Given the description of an element on the screen output the (x, y) to click on. 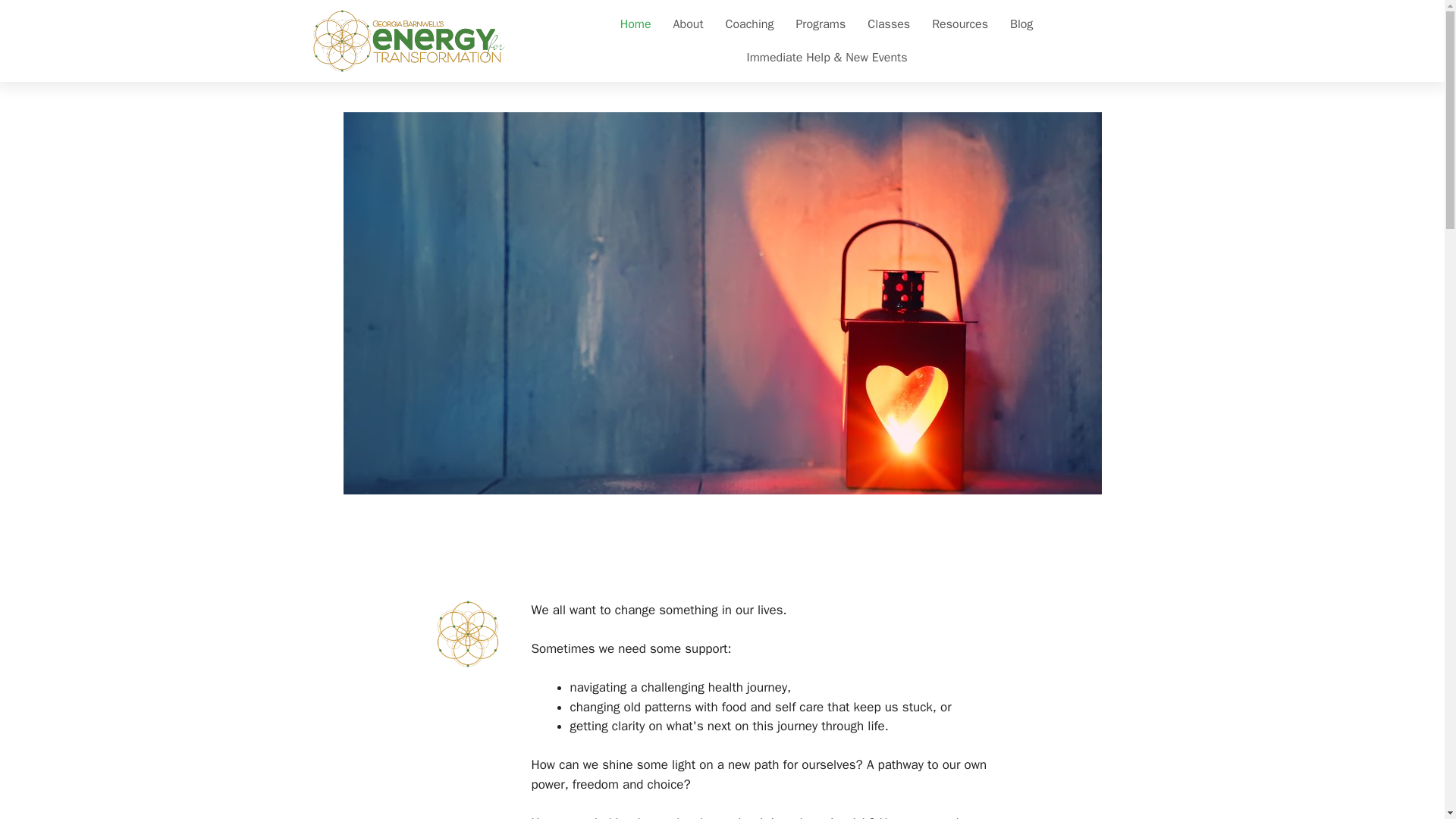
Home (636, 23)
GB Energy For Transformation - 500 (409, 40)
About (688, 23)
Programs (820, 23)
Blog (1020, 23)
Coaching (749, 23)
Classes (888, 23)
Resources (959, 23)
favicon (466, 633)
